Given the description of an element on the screen output the (x, y) to click on. 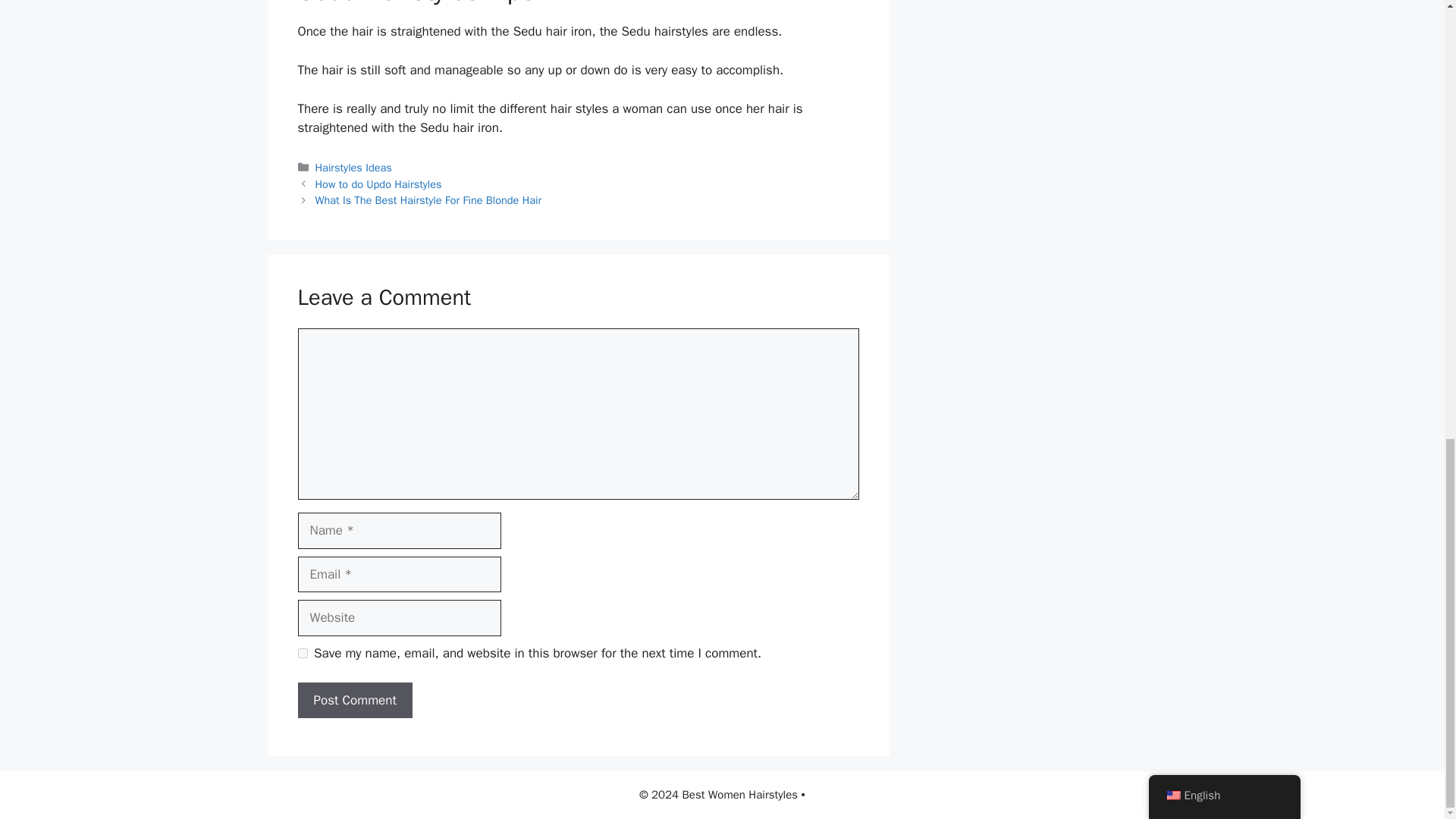
How to do Updo Hairstyles (378, 183)
What Is The Best Hairstyle For Fine Blonde Hair (428, 200)
Post Comment (354, 700)
yes (302, 653)
Post Comment (354, 700)
Hairstyles Ideas (353, 167)
